Given the description of an element on the screen output the (x, y) to click on. 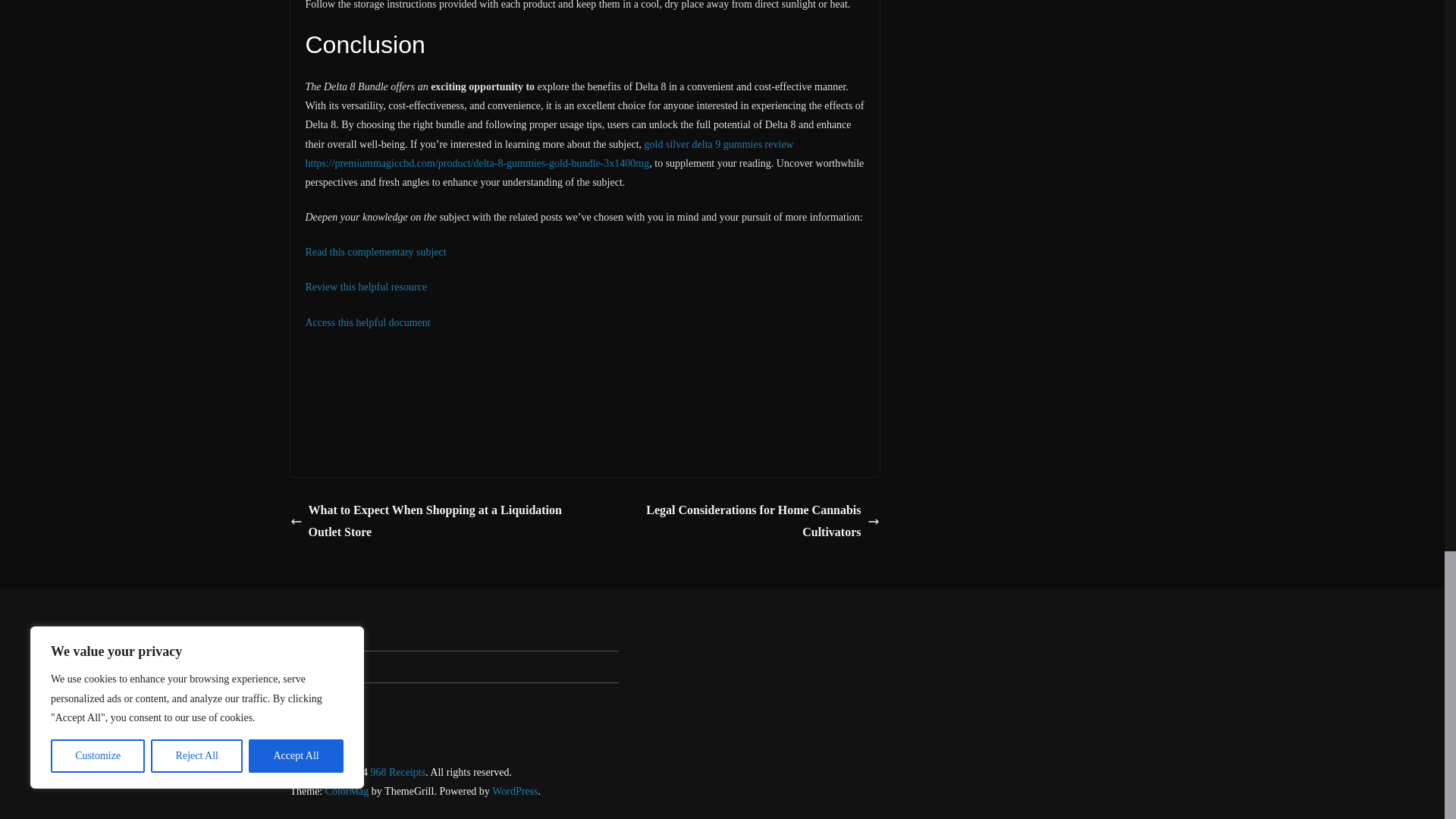
Review this helpful resource (365, 286)
ColorMag (346, 790)
Read this complementary subject (374, 251)
WordPress (514, 790)
Legal Considerations for Home Cannabis Cultivators (735, 521)
What to Expect When Shopping at a Liquidation Outlet Store (432, 521)
Access this helpful document (366, 322)
968 Receipts (397, 772)
